Given the description of an element on the screen output the (x, y) to click on. 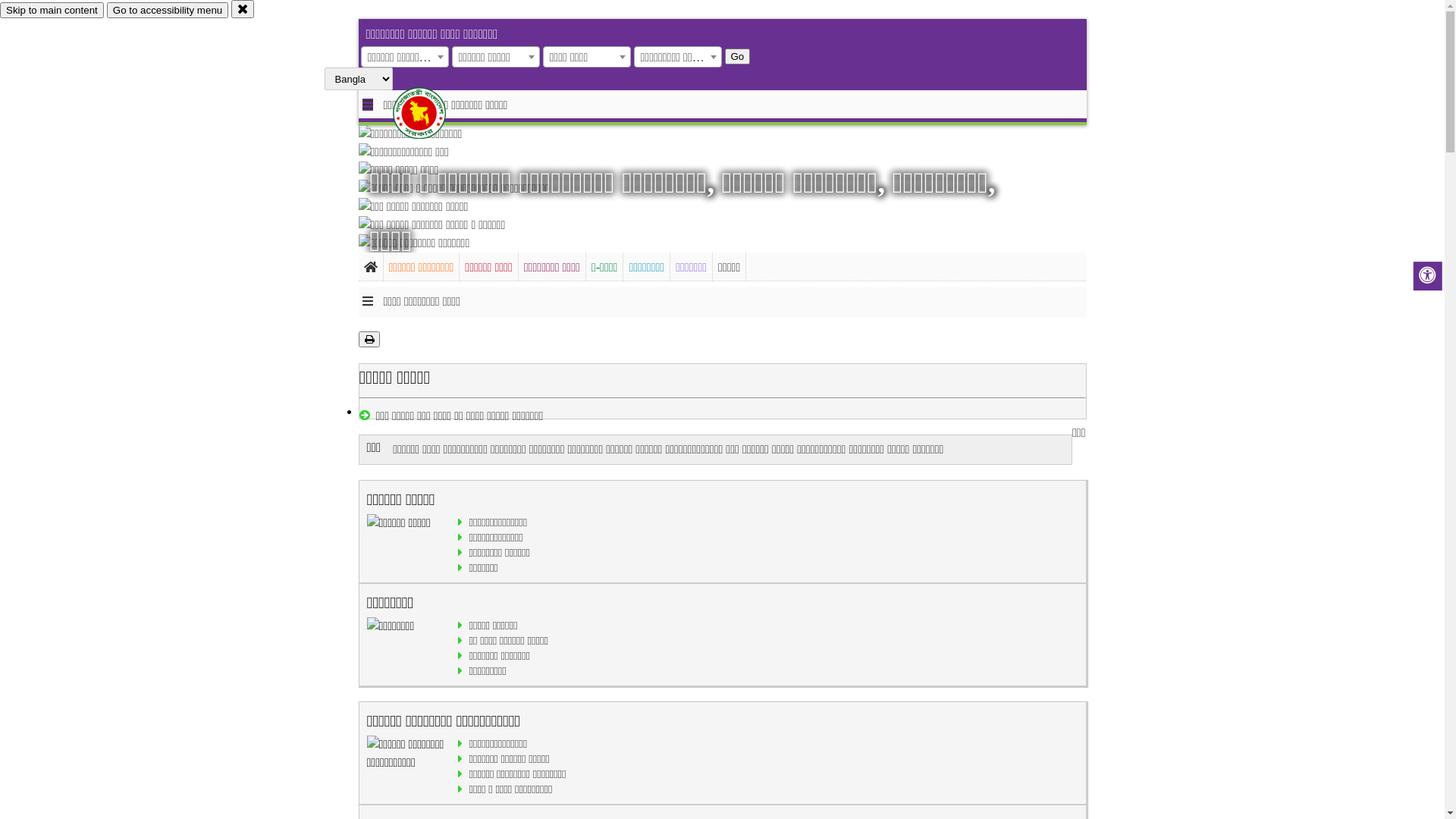
Go to accessibility menu Element type: text (167, 10)
Skip to main content Element type: text (51, 10)

                
             Element type: hover (431, 112)
close Element type: hover (242, 9)
Go Element type: text (737, 56)
